Given the description of an element on the screen output the (x, y) to click on. 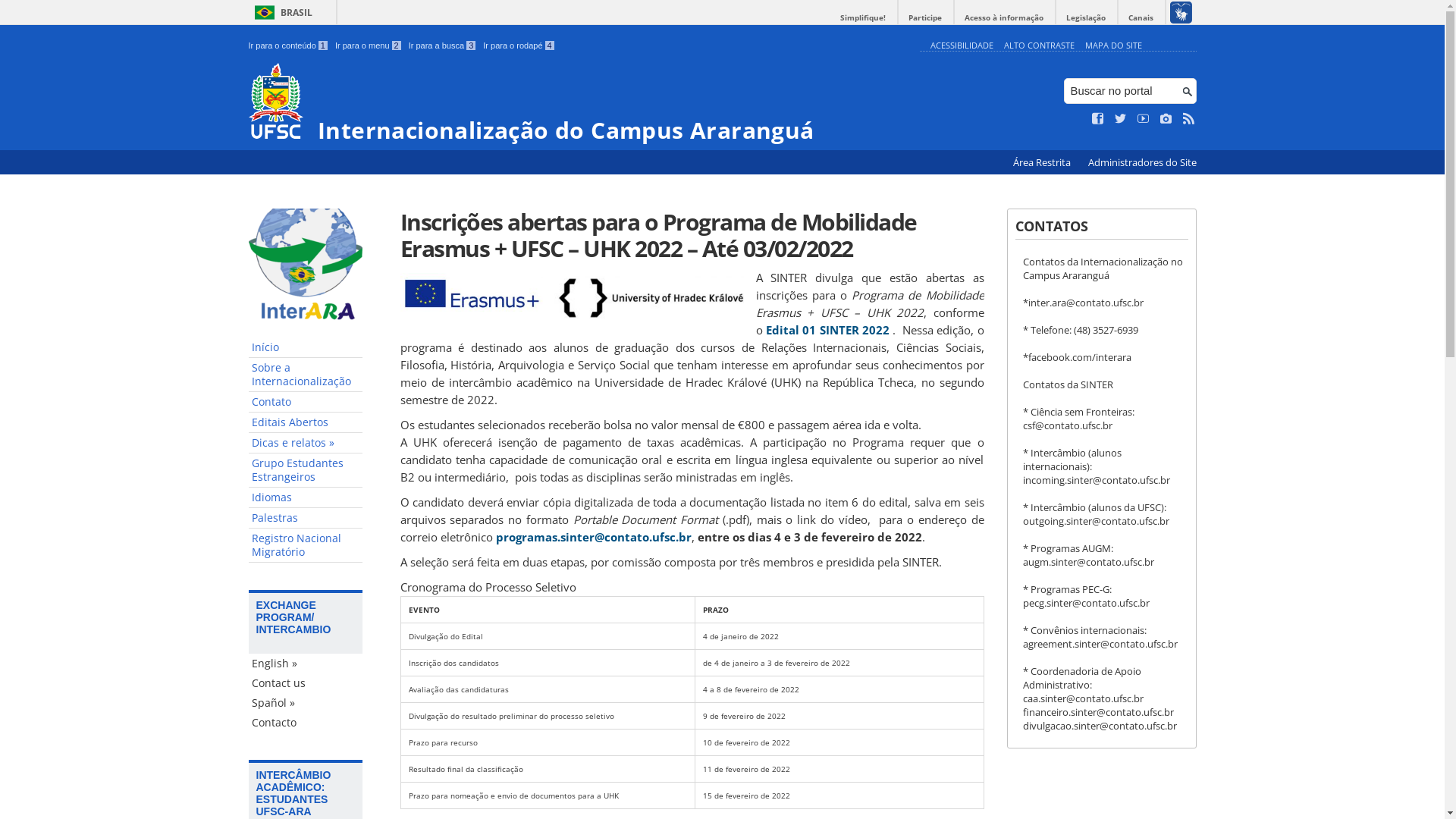
Ir para a busca 3 Element type: text (442, 45)
Administradores do Site Element type: text (1141, 162)
Contacto Element type: text (305, 722)
ALTO CONTRASTE Element type: text (1039, 44)
Veja no Instagram Element type: hover (1166, 118)
Contact us Element type: text (305, 683)
Participe Element type: text (924, 18)
Palestras Element type: text (305, 518)
Edital 01 SINTER 2022 Element type: text (827, 329)
Siga no Twitter Element type: hover (1120, 118)
Canais Element type: text (1140, 18)
ACESSIBILIDADE Element type: text (960, 44)
Editais Abertos Element type: text (305, 422)
Ir para o menu 2 Element type: text (368, 45)
MAPA DO SITE Element type: text (1112, 44)
Simplifique! Element type: text (862, 18)
Contato Element type: text (305, 402)
Curta no Facebook Element type: hover (1098, 118)
Idiomas Element type: text (305, 497)
programas.sinter@contato.ufsc.br Element type: text (593, 536)
Grupo Estudantes Estrangeiros Element type: text (305, 470)
BRASIL Element type: text (280, 12)
